Given the description of an element on the screen output the (x, y) to click on. 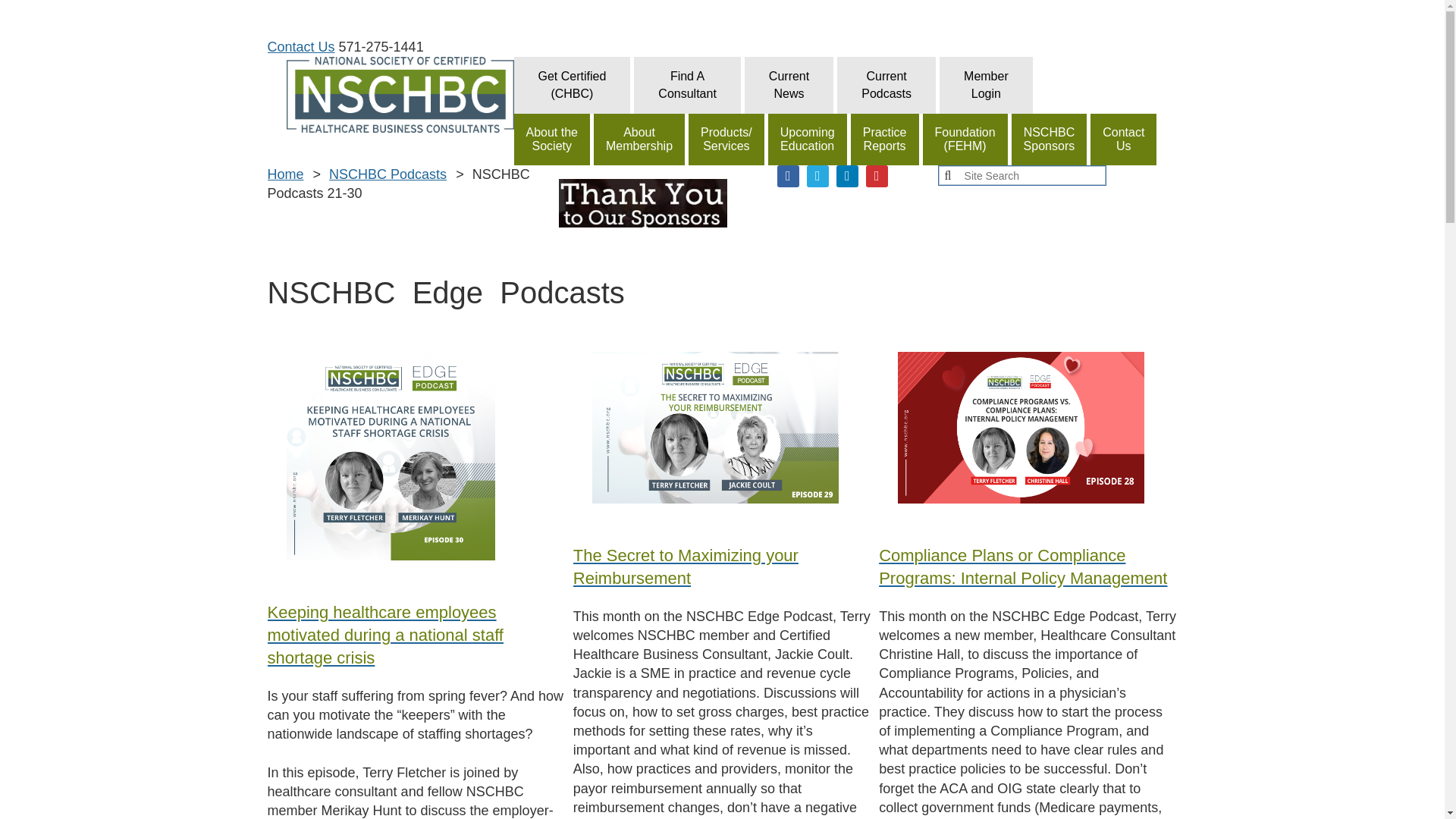
Facebook (886, 84)
YouTube (788, 84)
Twitter (687, 84)
Contact Us (788, 176)
LinkedIn (877, 176)
